Given the description of an element on the screen output the (x, y) to click on. 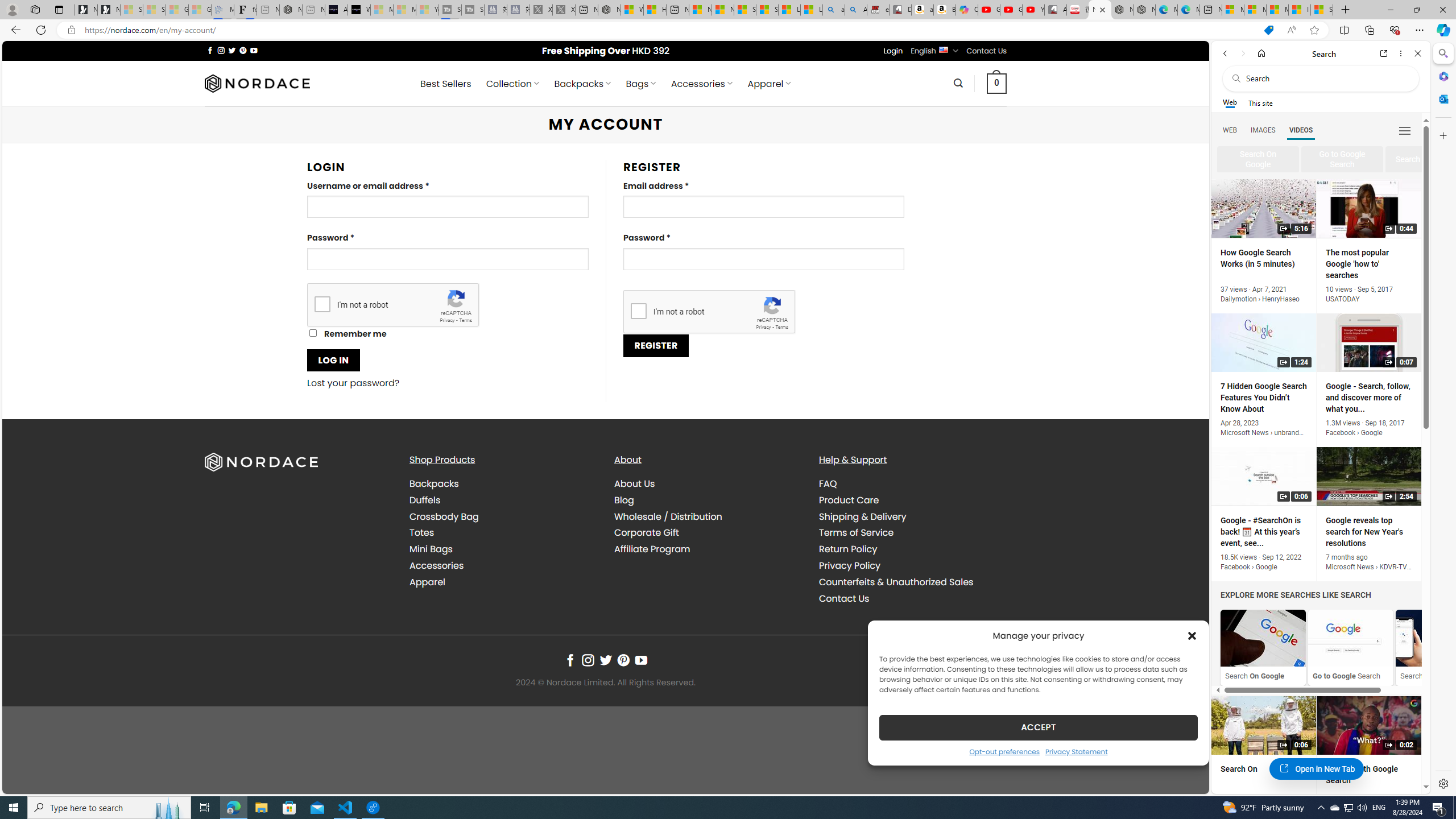
Amazon Echo Dot PNG - Search Images (856, 9)
Login (892, 50)
Accessories (502, 565)
Follow on Twitter (605, 659)
About Us (708, 483)
Newsletter Sign Up (109, 9)
Nordace - #1 Japanese Best-Seller - Siena Smart Backpack (291, 9)
Backpacks (433, 483)
Streaming Coverage | T3 - Sleeping (449, 9)
Shipping & Delivery (862, 516)
